Given the description of an element on the screen output the (x, y) to click on. 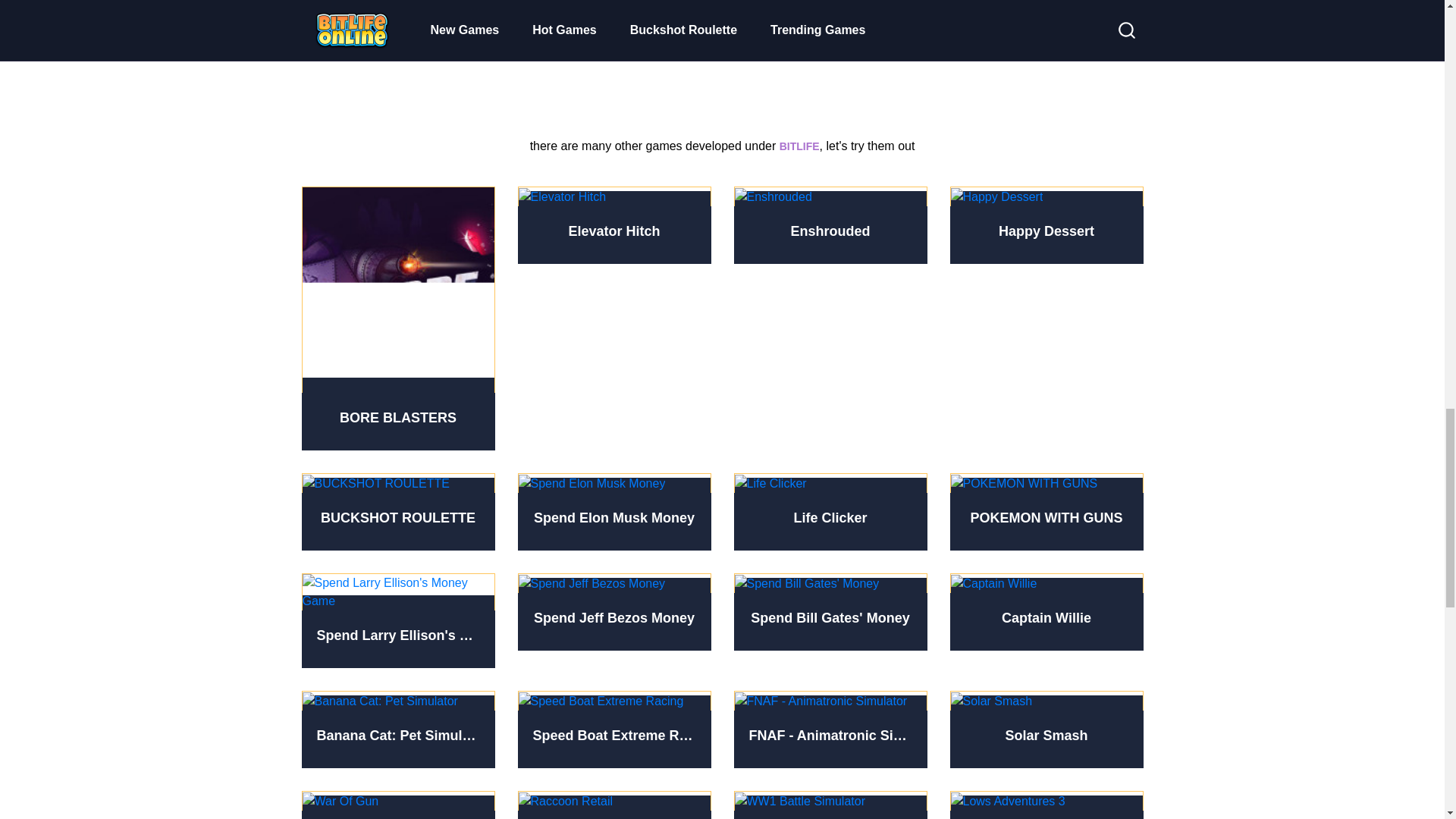
Spend Larry Ellison's Money Game (398, 620)
Banana Cat: Pet Simulator (398, 729)
POKEMON WITH GUNS (1045, 511)
idle (721, 51)
Happy Dessert (1045, 224)
Solar Smash (1045, 729)
Upgrades (721, 33)
Speed Boat Extreme Racing (613, 729)
Enshrouded (830, 224)
Raccoon Retail (613, 805)
BUCKSHOT ROULETTE (398, 511)
FNAF - Animatronic Simulator (830, 729)
Play BORE BLASTERS (398, 318)
